Given the description of an element on the screen output the (x, y) to click on. 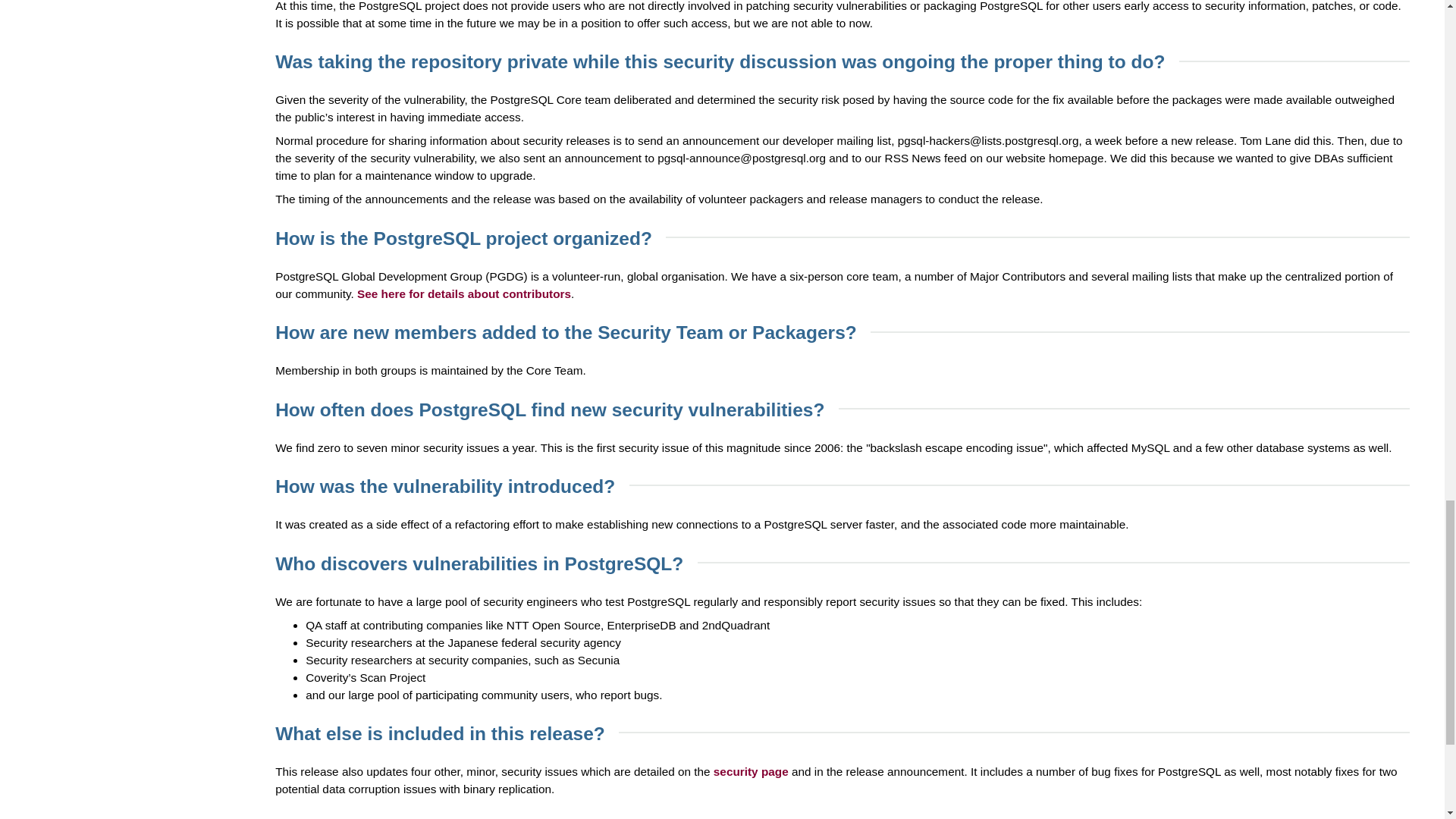
security page (751, 771)
See here for details about contributors (463, 293)
